Given the description of an element on the screen output the (x, y) to click on. 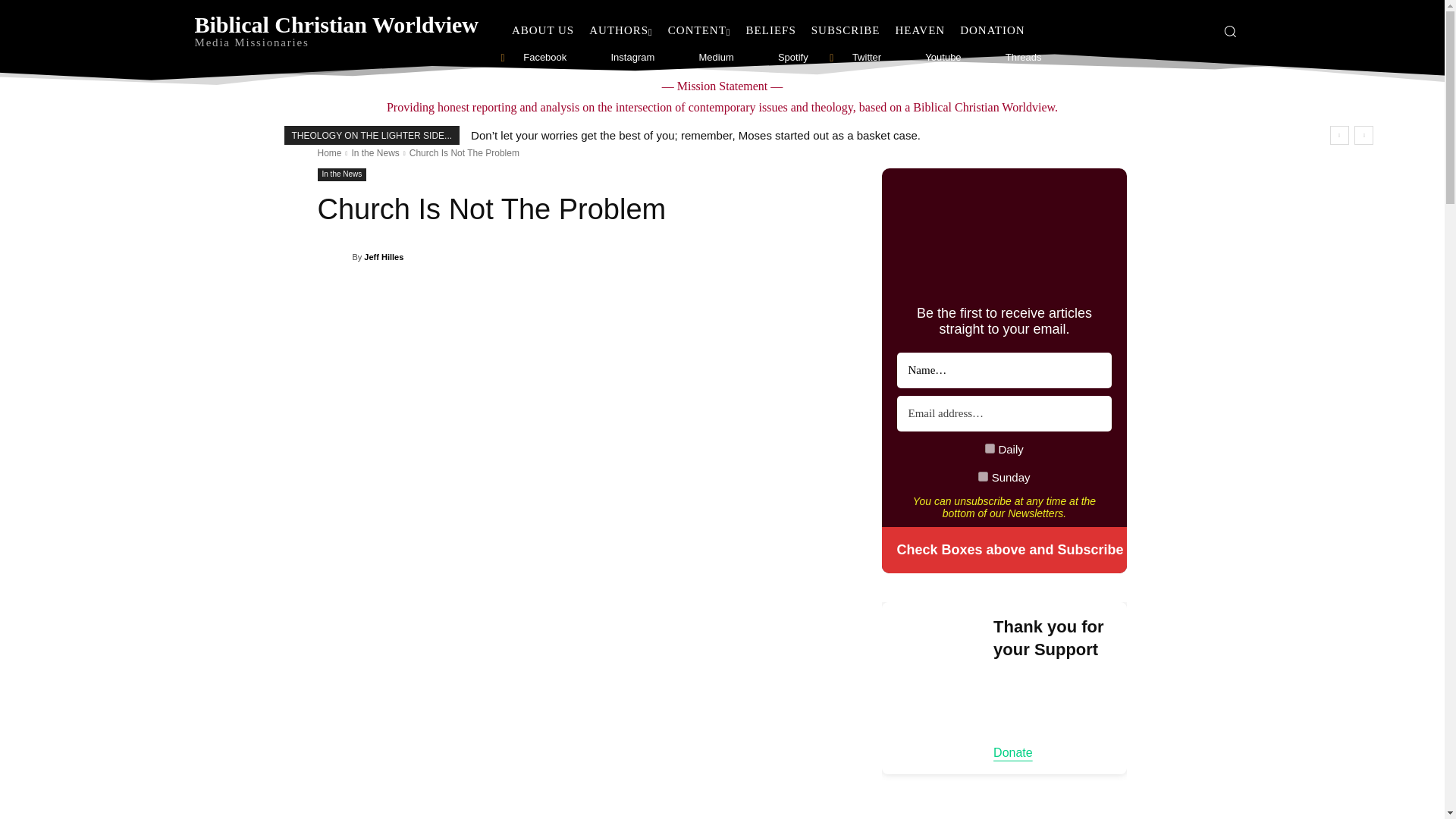
Youtube (904, 57)
iizT3HUV892uRdZ0gxWr3orA (989, 448)
Twitter (831, 57)
Spotify (757, 57)
Medium (677, 57)
Instagram (590, 57)
prOR2nbP5RwaciBRQ11KQQ (983, 476)
Check Boxes above and Subscribe (1003, 550)
Facebook (502, 57)
Threads (984, 57)
